Given the description of an element on the screen output the (x, y) to click on. 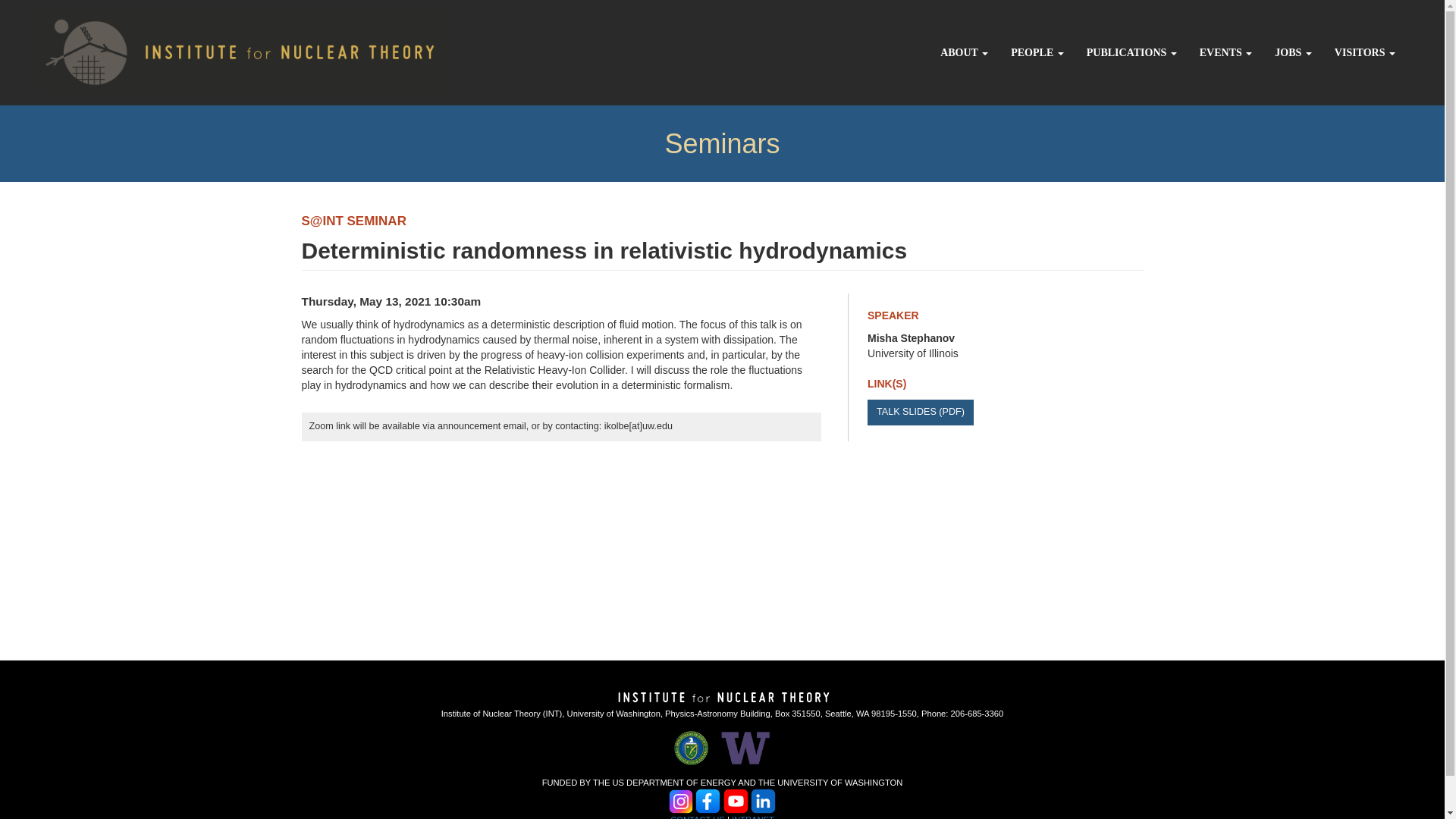
ABOUT (963, 53)
PEOPLE (1036, 53)
Home (224, 49)
EVENTS (1225, 53)
JOBS (1293, 53)
PUBLICATIONS (1131, 53)
Contact Us (697, 816)
